Given the description of an element on the screen output the (x, y) to click on. 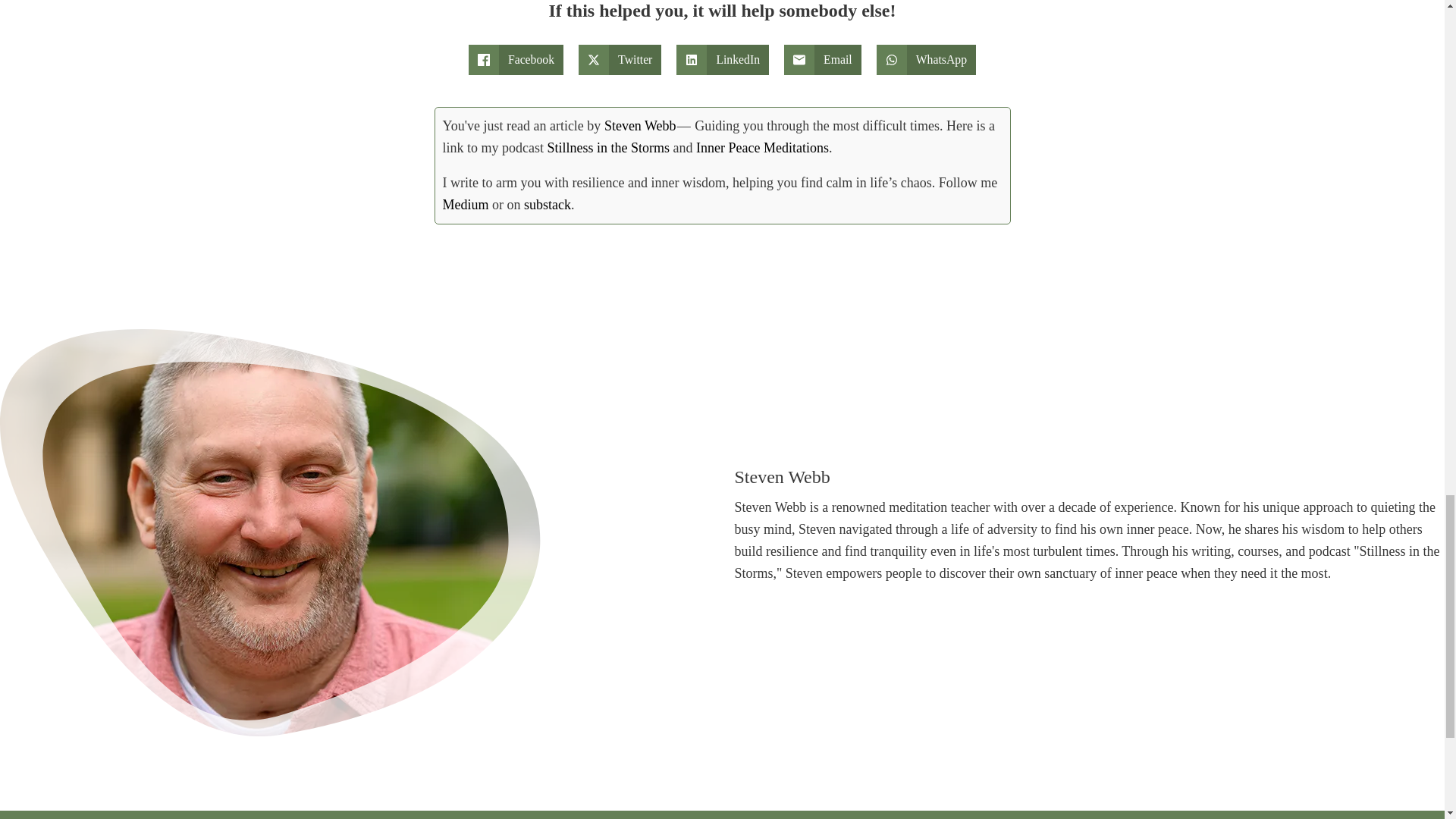
Inner Peace Meditations (761, 147)
Stillness in the Storms (608, 147)
substack (547, 204)
Steven Webb (640, 125)
Medium (465, 204)
